Given the description of an element on the screen output the (x, y) to click on. 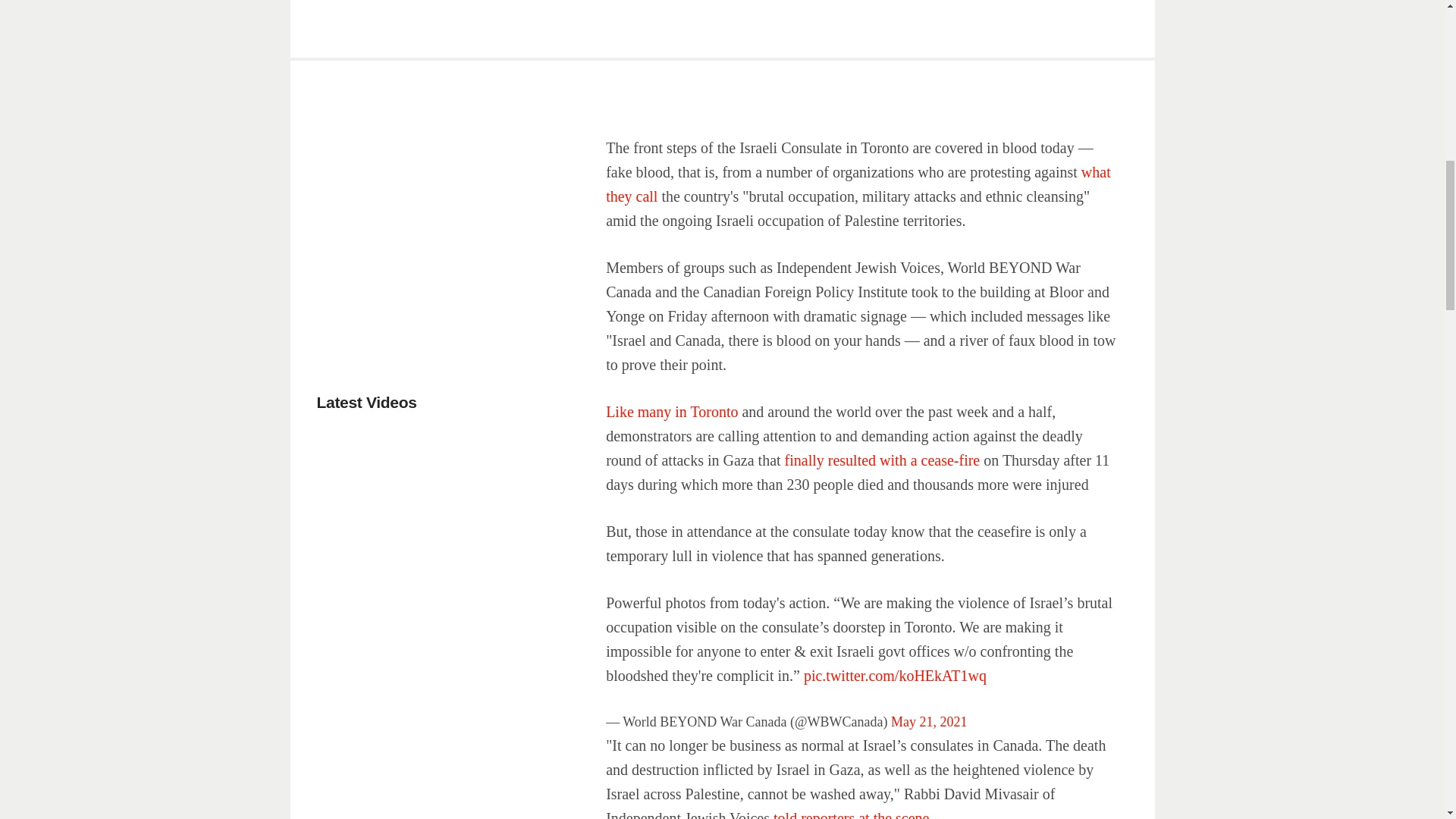
what they call (857, 183)
May 21, 2021 (929, 721)
Like many in Toronto (671, 411)
finally resulted with a cease-fire (884, 460)
told reporters at the scene (850, 814)
